Given the description of an element on the screen output the (x, y) to click on. 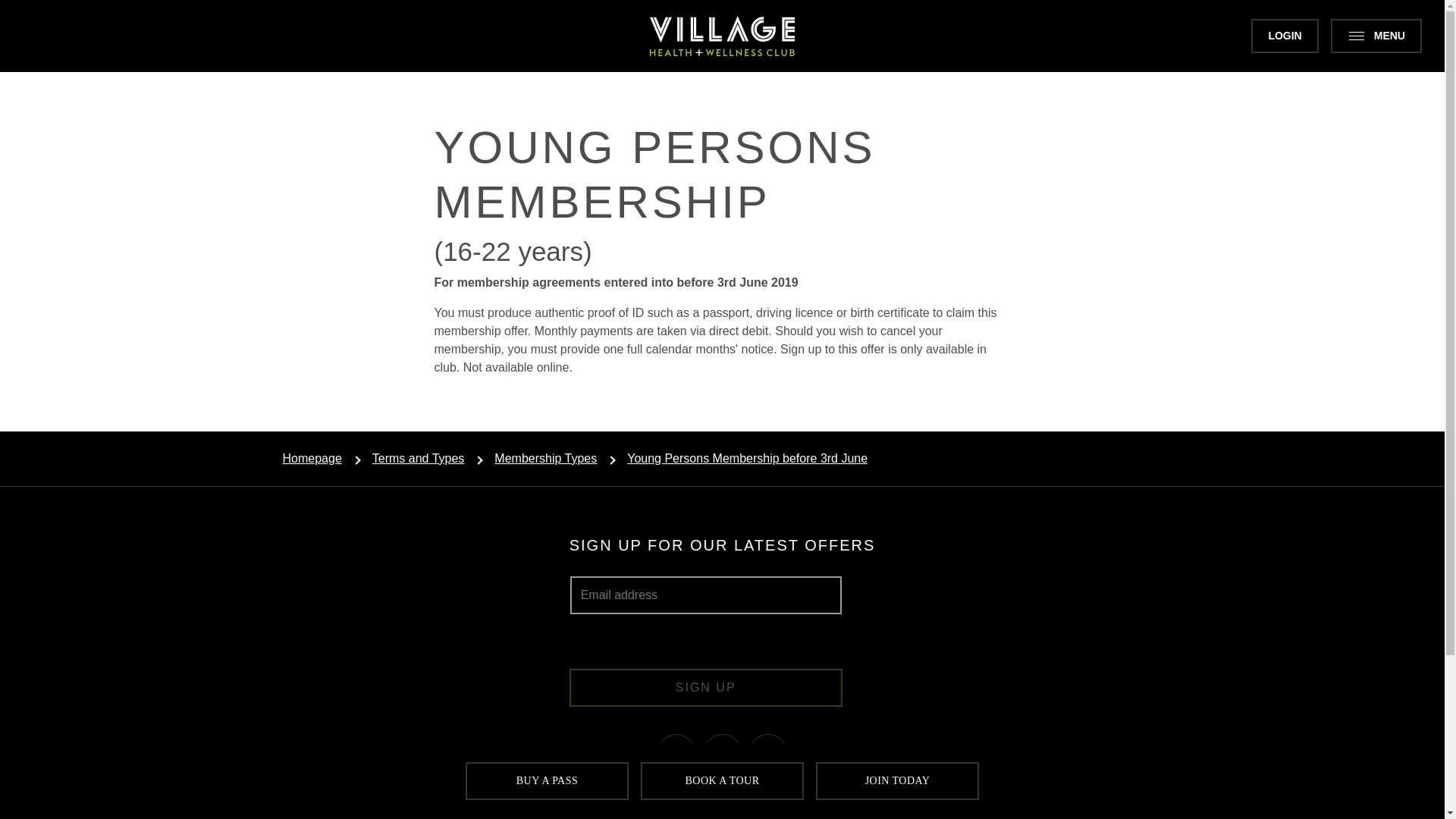
MENU (1376, 35)
